Given the description of an element on the screen output the (x, y) to click on. 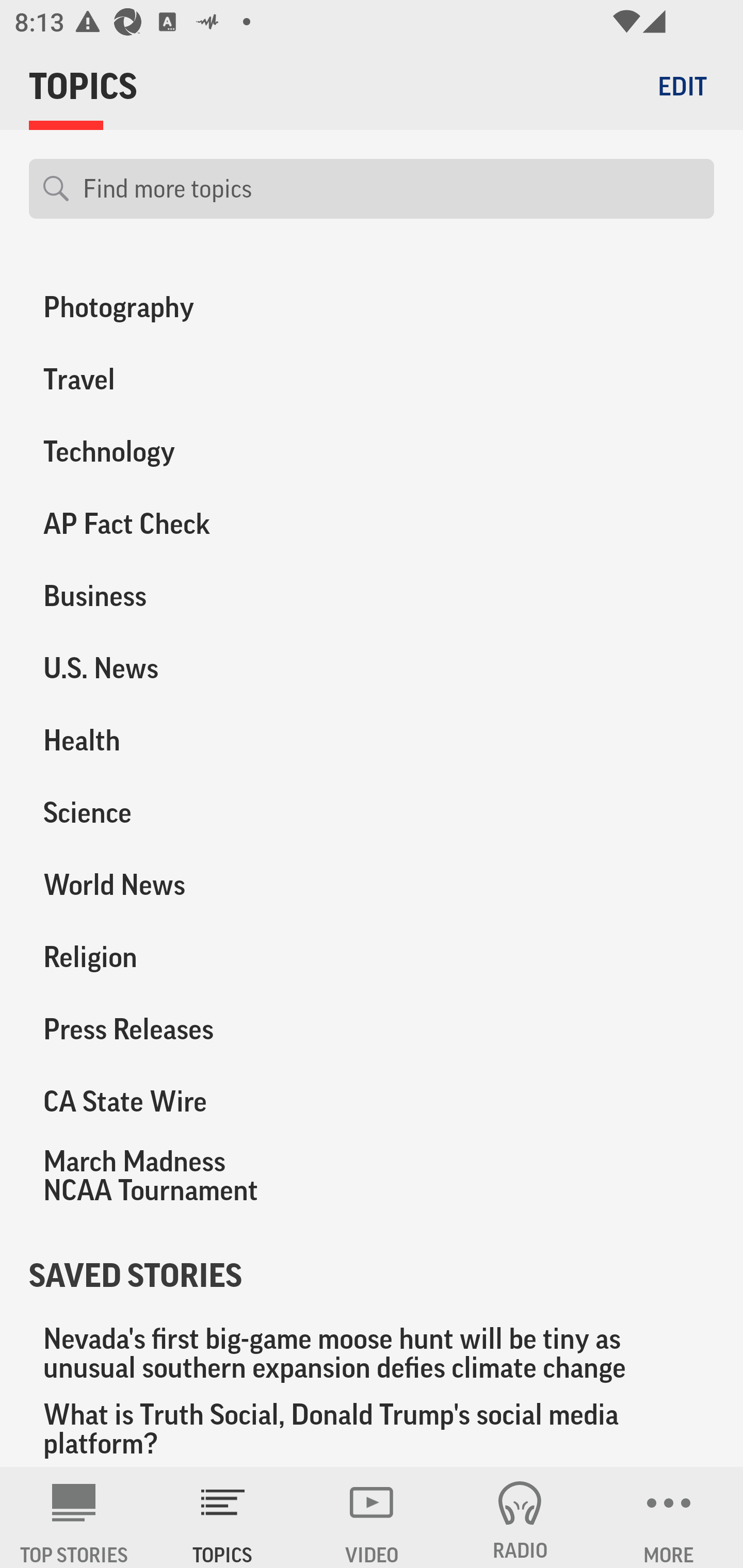
EDIT (682, 86)
Find more topics (391, 188)
Photography (185, 307)
Travel (185, 379)
Technology (185, 451)
AP Fact Check (185, 523)
Business (185, 595)
U.S. News (185, 667)
Health (185, 740)
Science (185, 812)
World News (185, 884)
Religion (185, 957)
Press Releases (185, 1030)
CA State Wire (185, 1102)
March Madness NCAA Tournament (185, 1175)
AP News TOP STORIES (74, 1517)
TOPICS (222, 1517)
VIDEO (371, 1517)
RADIO (519, 1517)
MORE (668, 1517)
